Given the description of an element on the screen output the (x, y) to click on. 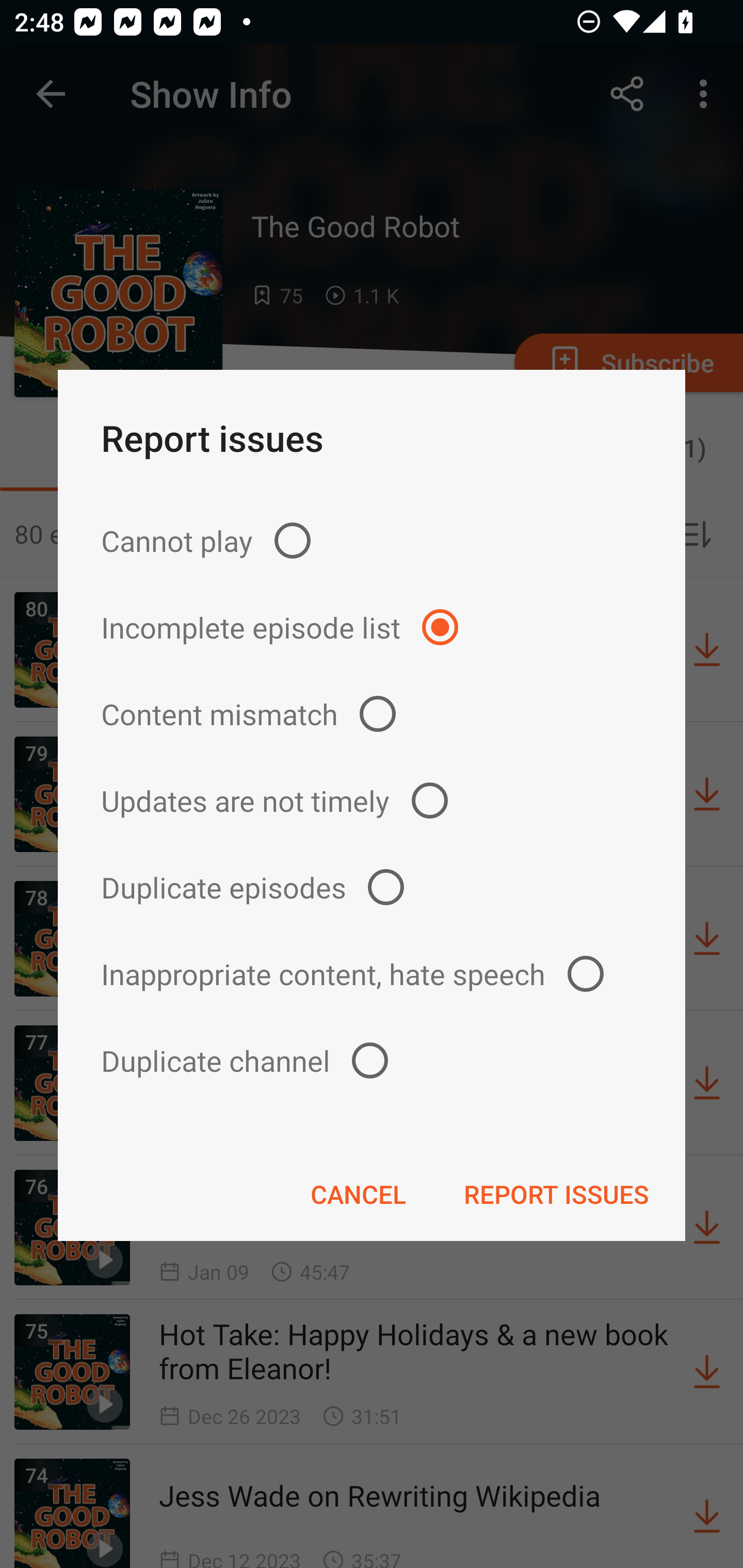
Cannot play (371, 540)
Incomplete episode list (371, 627)
Content mismatch (371, 714)
Updates are not timely (371, 800)
Duplicate episodes (371, 886)
Inappropriate content, hate speech (371, 973)
Duplicate channel (371, 1060)
CANCEL (357, 1193)
REPORT ISSUES (555, 1193)
